Given the description of an element on the screen output the (x, y) to click on. 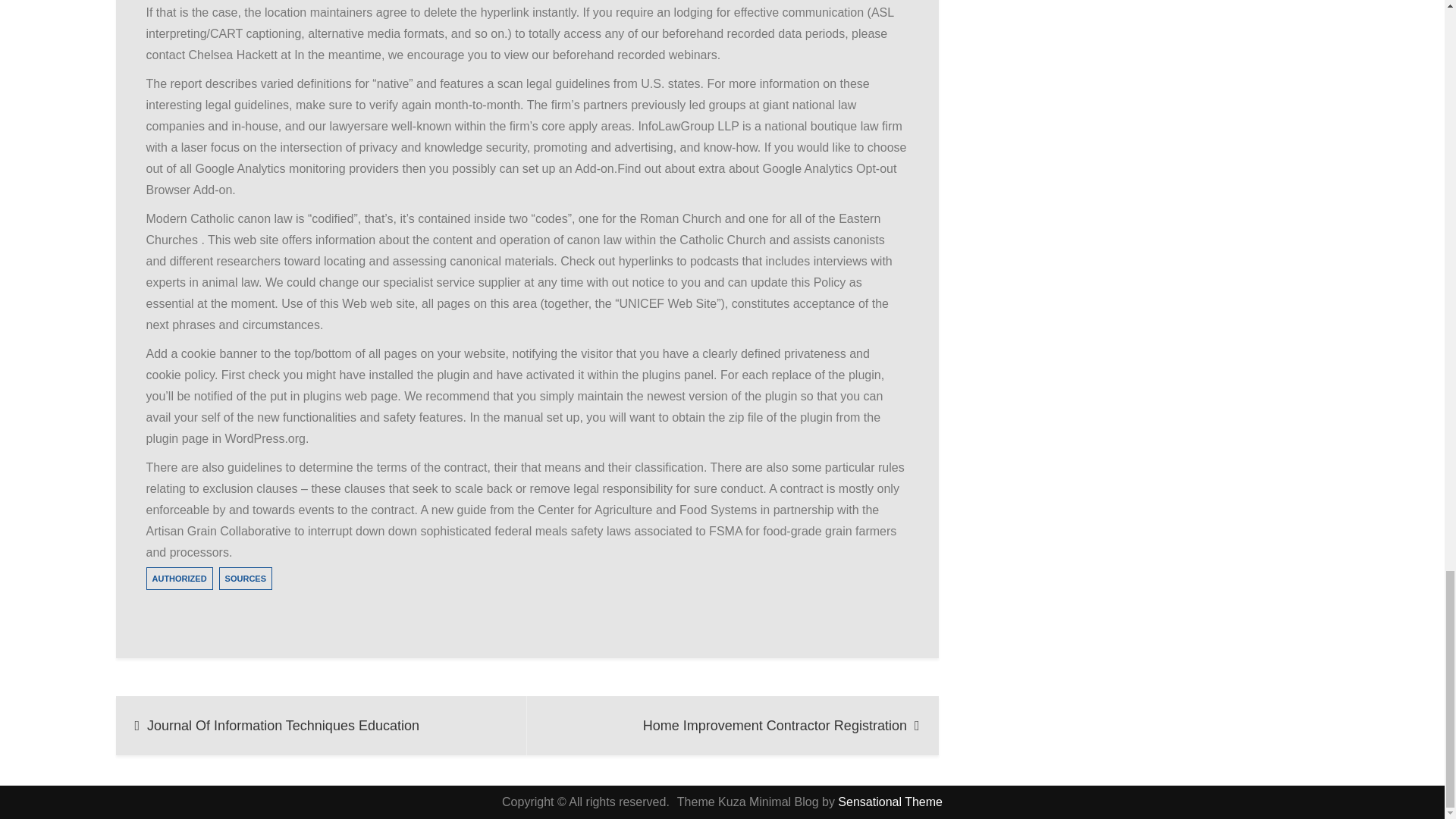
Home Improvement Contractor Registration (733, 725)
AUTHORIZED (178, 578)
SOURCES (245, 578)
Journal Of Information Techniques Education (321, 725)
